Given the description of an element on the screen output the (x, y) to click on. 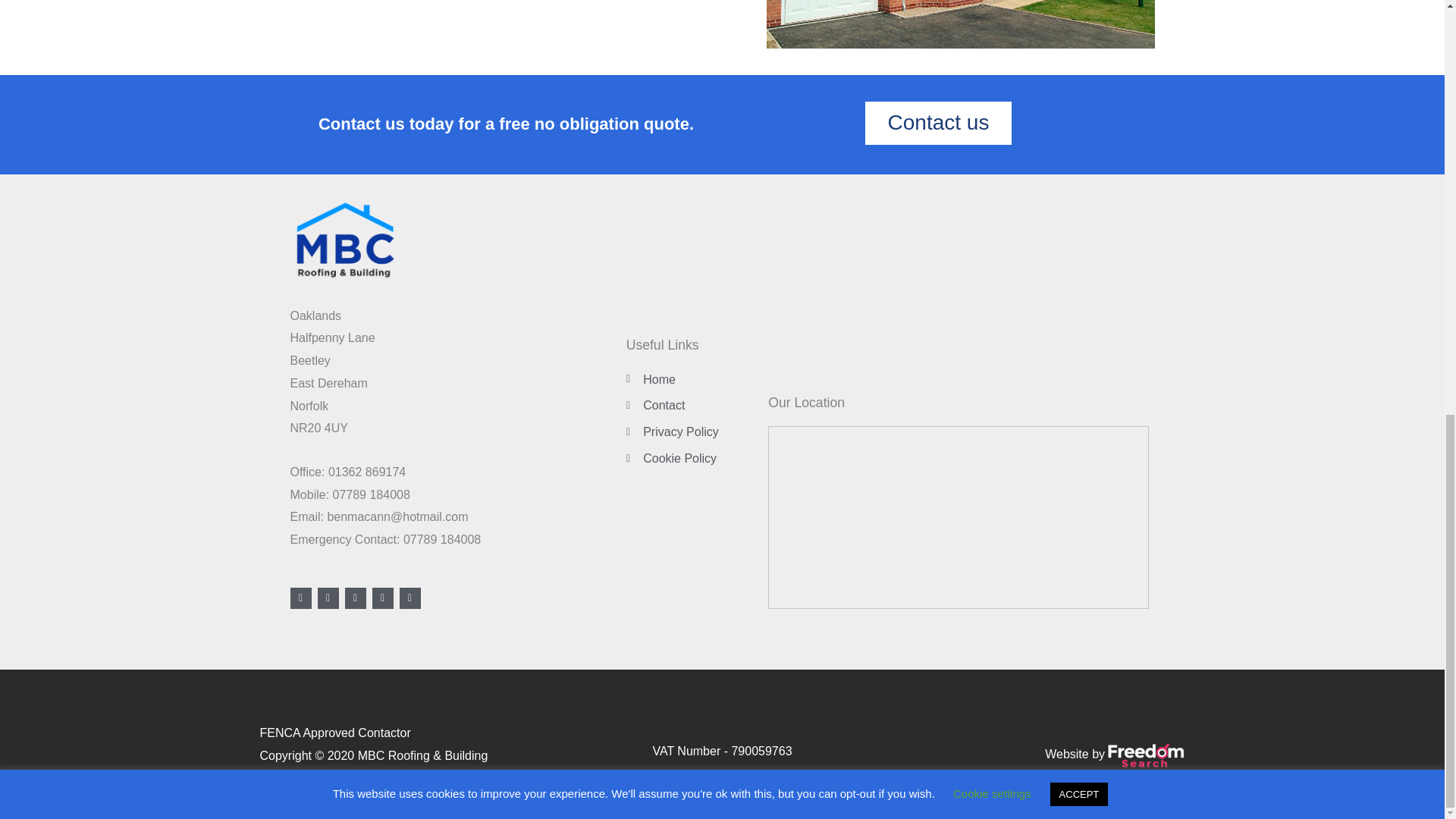
Google-plus (354, 598)
Contact (693, 404)
Privacy Policy (693, 431)
Instagram (382, 598)
Cookie Policy (693, 458)
Home (693, 379)
Linkedin (409, 598)
Contact us (937, 122)
Facebook (300, 598)
Twitter (327, 598)
